Given the description of an element on the screen output the (x, y) to click on. 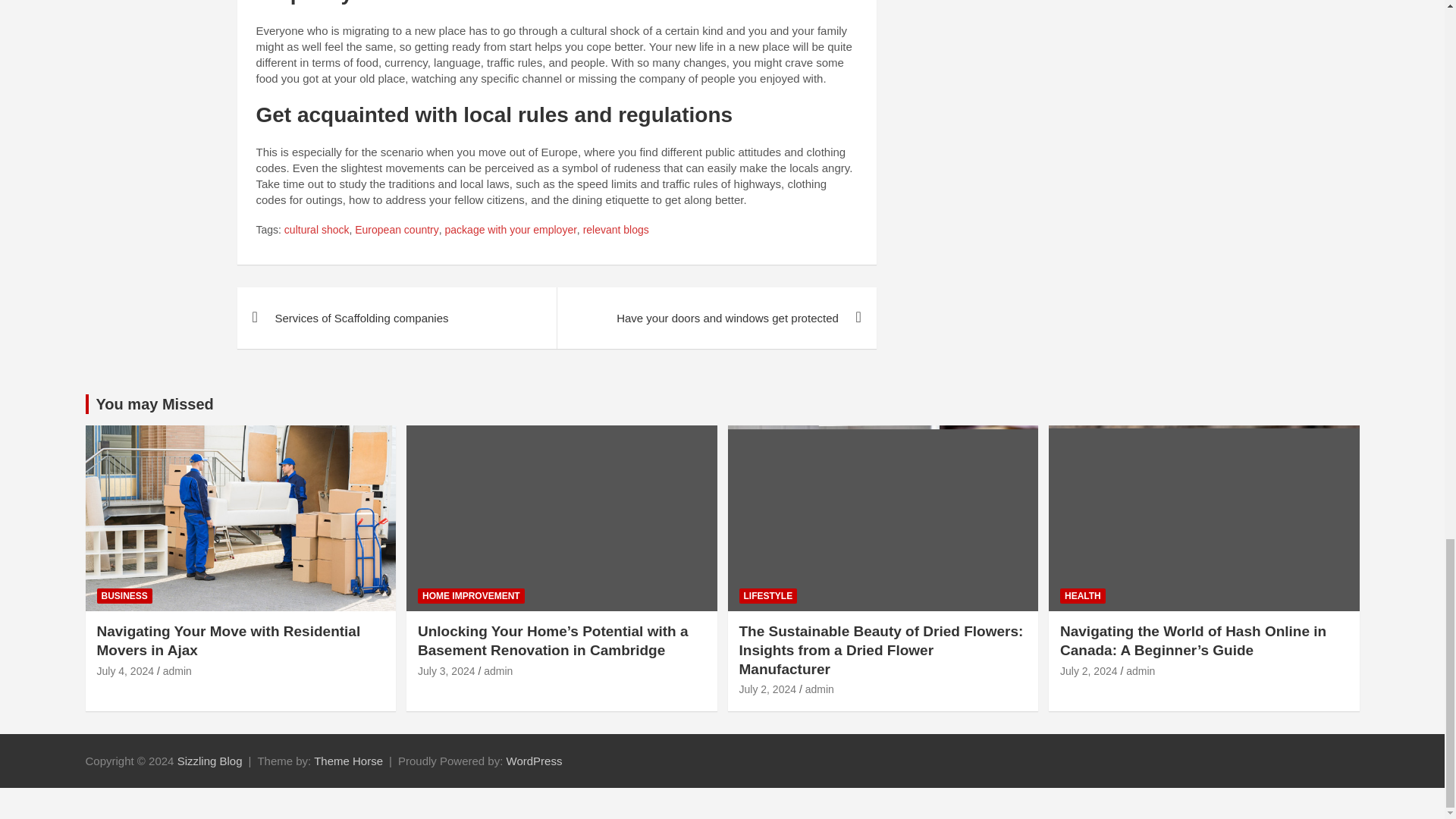
package with your employer (510, 230)
Have your doors and windows get protected (716, 317)
European country (397, 230)
Navigating Your Move with Residential Movers in Ajax (125, 671)
Theme Horse (348, 760)
Services of Scaffolding companies (395, 317)
cultural shock (316, 230)
WordPress (534, 760)
Sizzling Blog (210, 760)
